Given the description of an element on the screen output the (x, y) to click on. 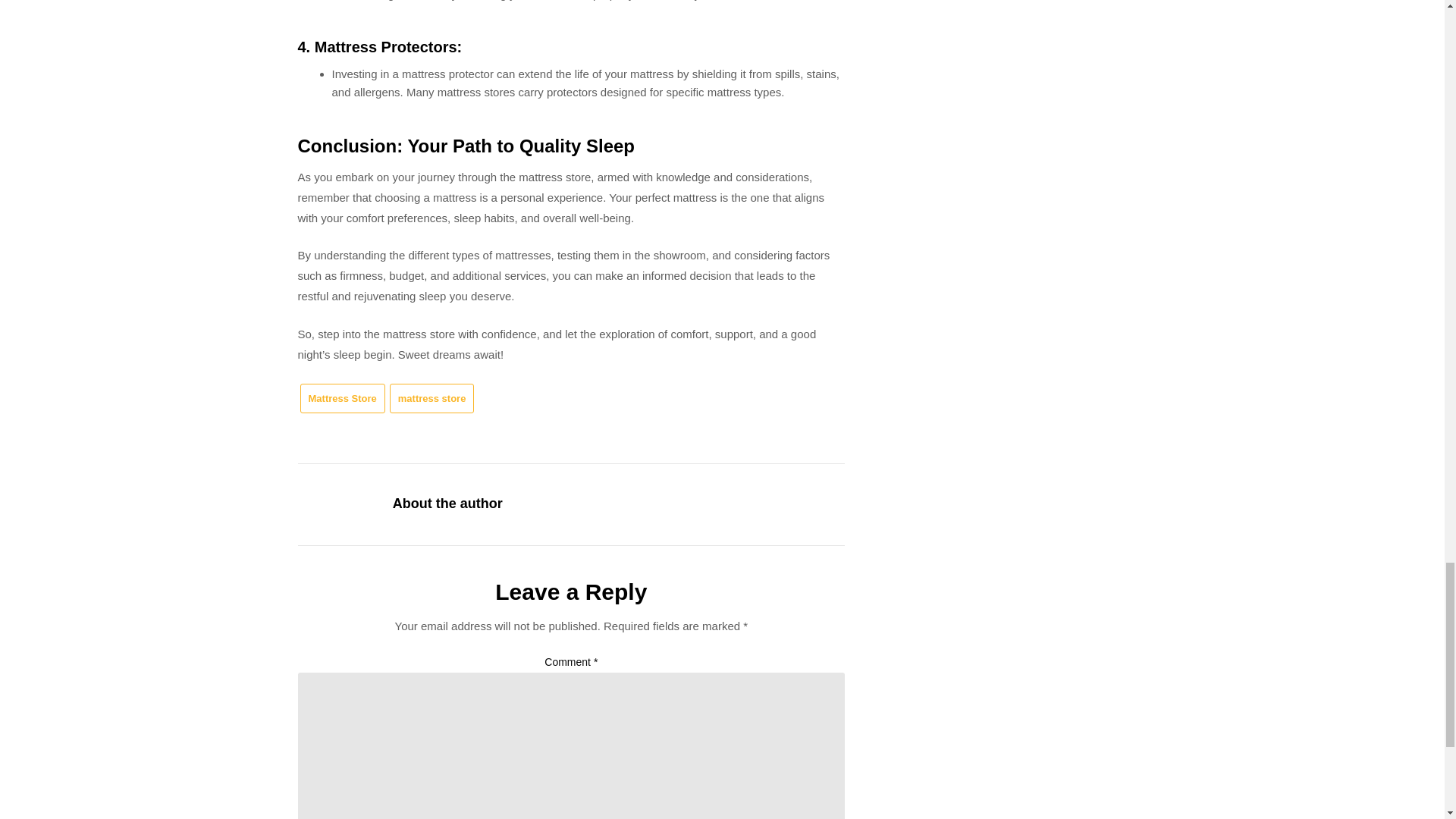
mattress store (432, 398)
Mattress Store (342, 398)
